Given the description of an element on the screen output the (x, y) to click on. 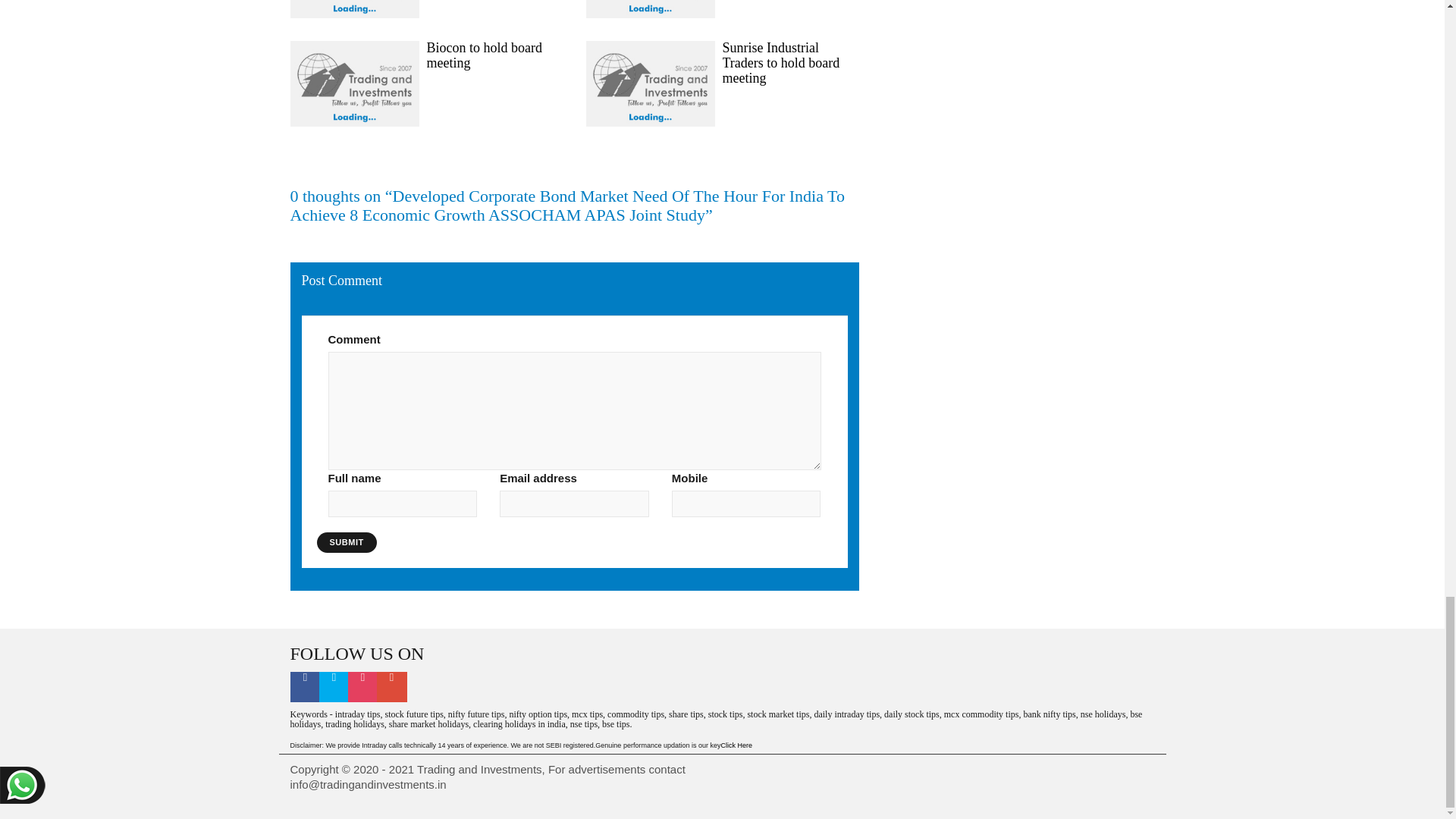
SUBMIT (347, 542)
